Given the description of an element on the screen output the (x, y) to click on. 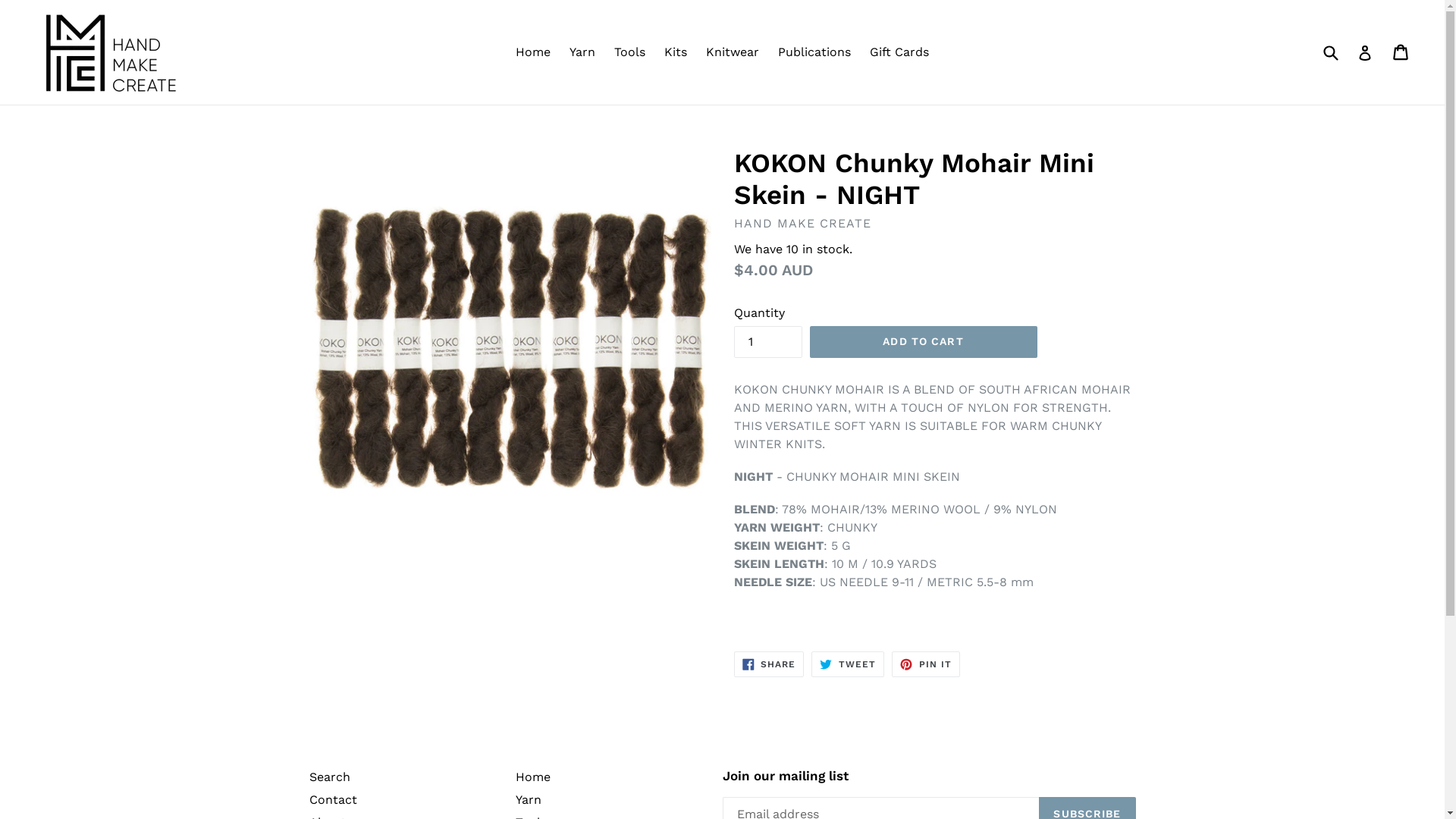
Home Element type: text (533, 51)
Contact Element type: text (333, 798)
Yarn Element type: text (528, 798)
SHARE
SHARE ON FACEBOOK Element type: text (769, 663)
ADD TO CART Element type: text (923, 341)
Submit Element type: text (1329, 51)
Home Element type: text (532, 775)
Publications Element type: text (814, 51)
Yarn Element type: text (581, 51)
PIN IT
PIN ON PINTEREST Element type: text (925, 663)
TWEET
TWEET ON TWITTER Element type: text (847, 663)
Knitwear Element type: text (732, 51)
Log in Element type: text (1364, 52)
Gift Cards Element type: text (899, 51)
Cart
Cart Element type: text (1401, 51)
Search Element type: text (329, 775)
Tools Element type: text (629, 51)
Kits Element type: text (675, 51)
